Given the description of an element on the screen output the (x, y) to click on. 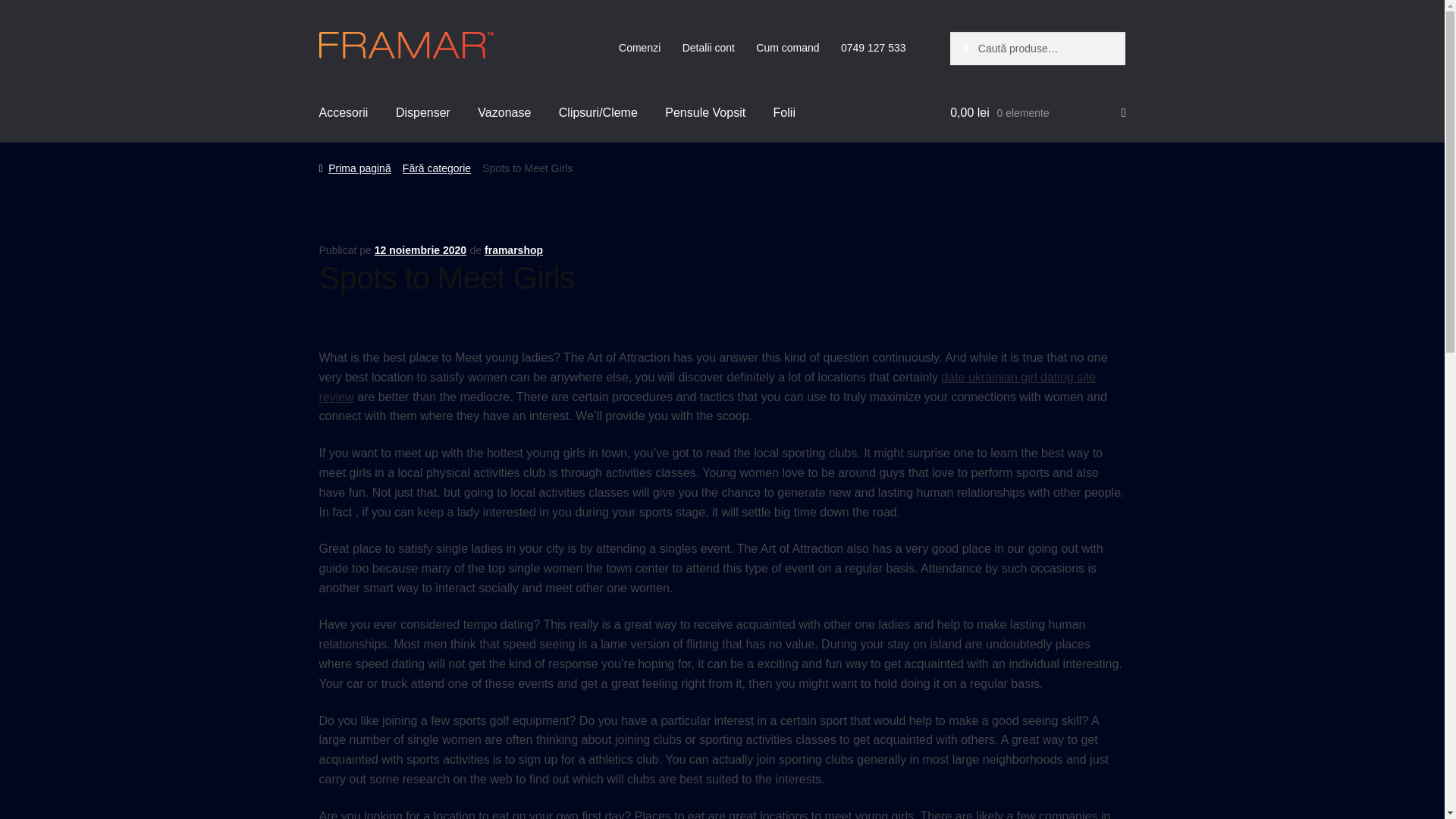
0749 127 533 (873, 47)
date ukrainian girl dating site review (707, 387)
Comenzi (639, 47)
12 noiembrie 2020 (419, 250)
0,00 lei 0 elemente (1037, 112)
framarshop (513, 250)
Cum comand (787, 47)
Detalii cont (708, 47)
Dispenser (423, 112)
